Given the description of an element on the screen output the (x, y) to click on. 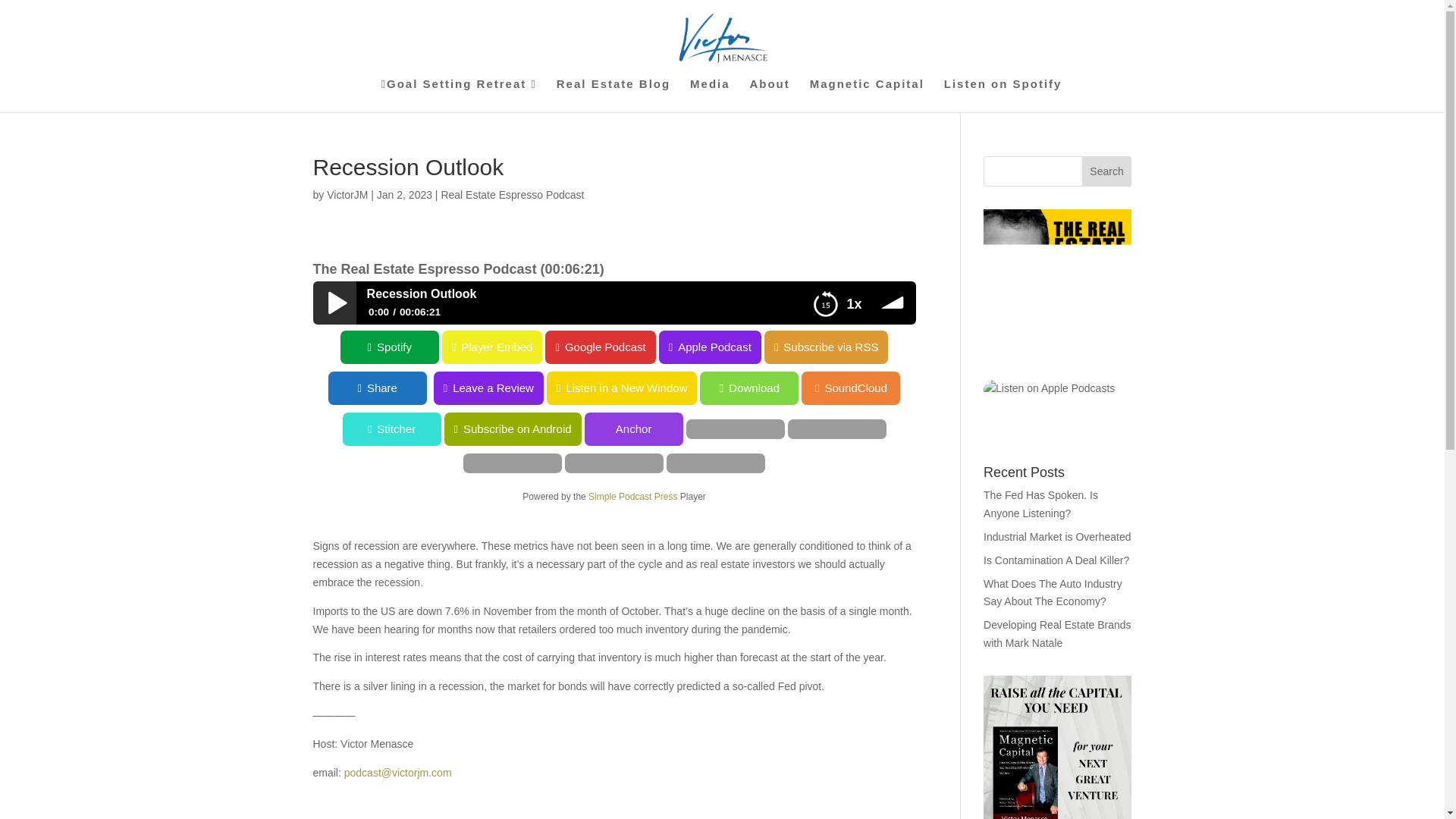
Listen in a New Window (75, 387)
Stitcher (49, 428)
Search (1106, 171)
Media (710, 95)
About (769, 95)
Subscribe on Android (68, 428)
Download (49, 387)
Listen on Spotify (1002, 95)
What Does The Auto Industry Say About The Economy? (1053, 457)
Spotify (389, 346)
Simple Podcast Press (632, 496)
Real Estate Blog (612, 95)
Apple Podcast (710, 346)
Search (1106, 171)
Leave a Review (666, 387)
